Given the description of an element on the screen output the (x, y) to click on. 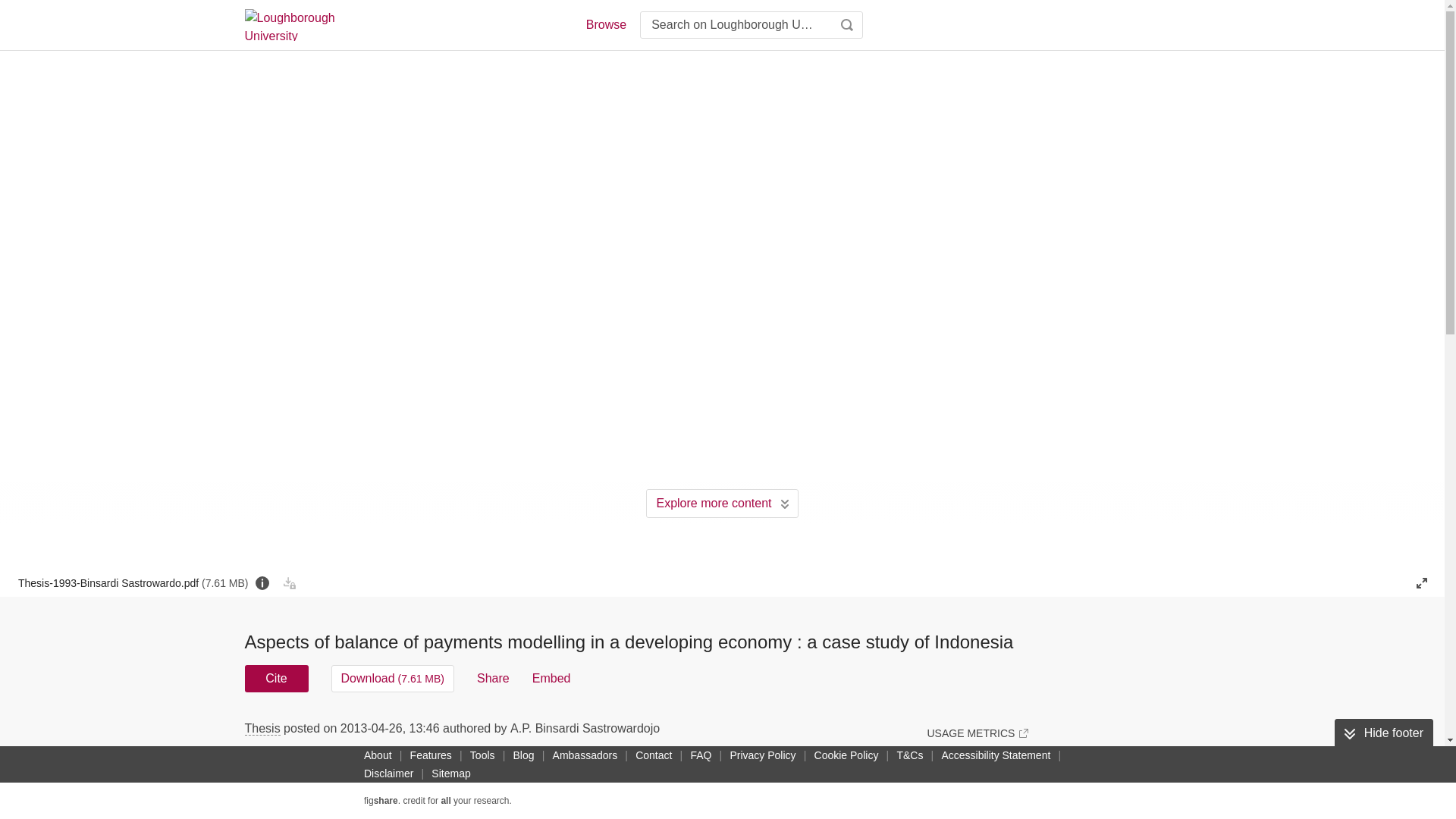
Cite (275, 678)
Contact (653, 755)
Hide footer (1383, 733)
Thesis-1993-Binsardi Sastrowardo.pdf (132, 583)
Browse (605, 24)
Privacy Policy (762, 755)
Tools (482, 755)
About (377, 755)
Ambassadors (585, 755)
Embed (551, 678)
FAQ (700, 755)
Accessibility Statement (995, 755)
Features (431, 755)
Blog (523, 755)
Share (493, 678)
